Given the description of an element on the screen output the (x, y) to click on. 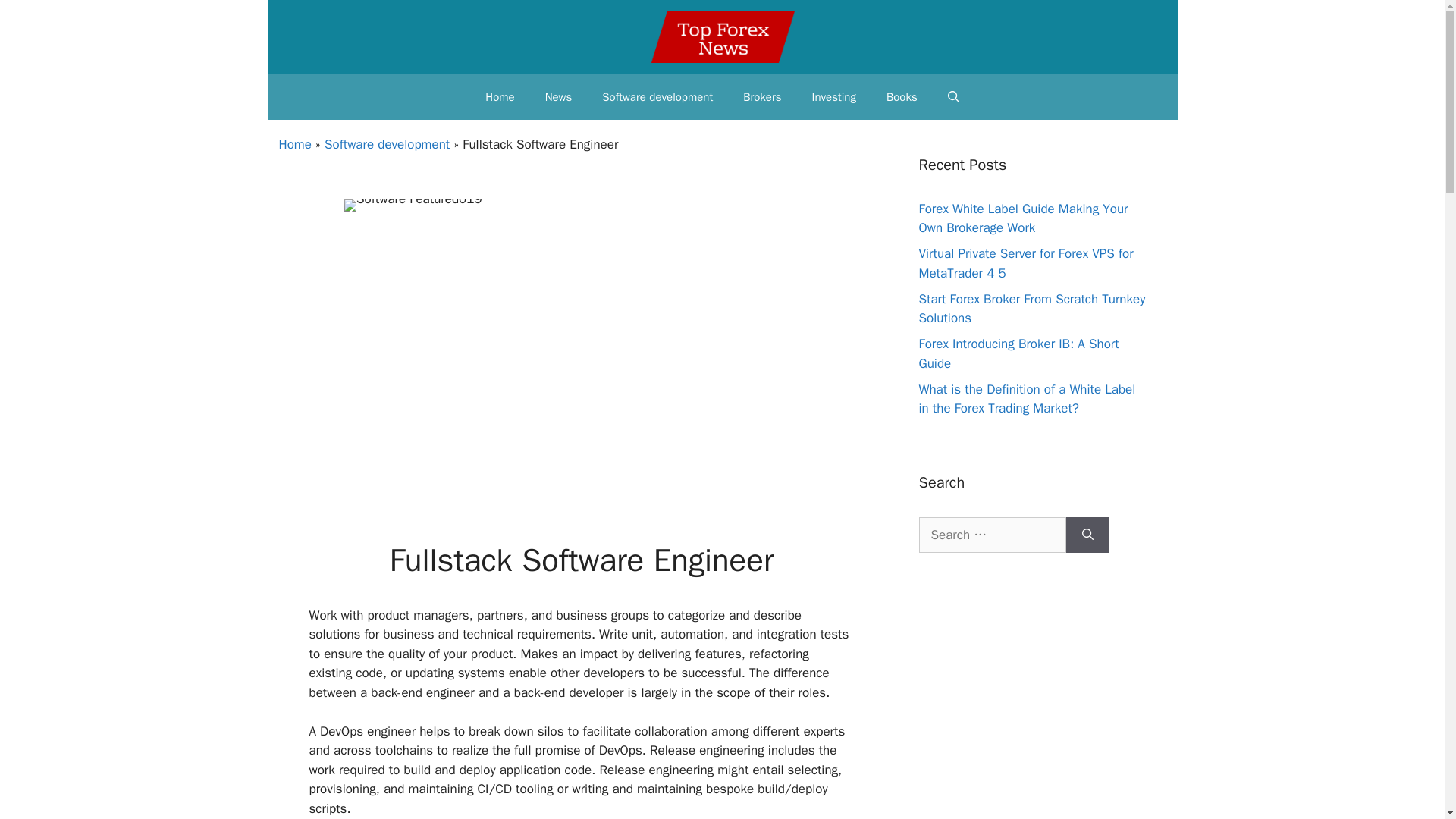
Forex White Label Guide Making Your Own Brokerage Work (1023, 218)
Home (499, 96)
News (558, 96)
TopForexNews.org (722, 37)
Home (295, 144)
Investing (833, 96)
Search for: (991, 534)
Start Forex Broker From Scratch Turnkey Solutions (1031, 308)
Forex Introducing Broker IB: A Short Guide (1018, 353)
